Given the description of an element on the screen output the (x, y) to click on. 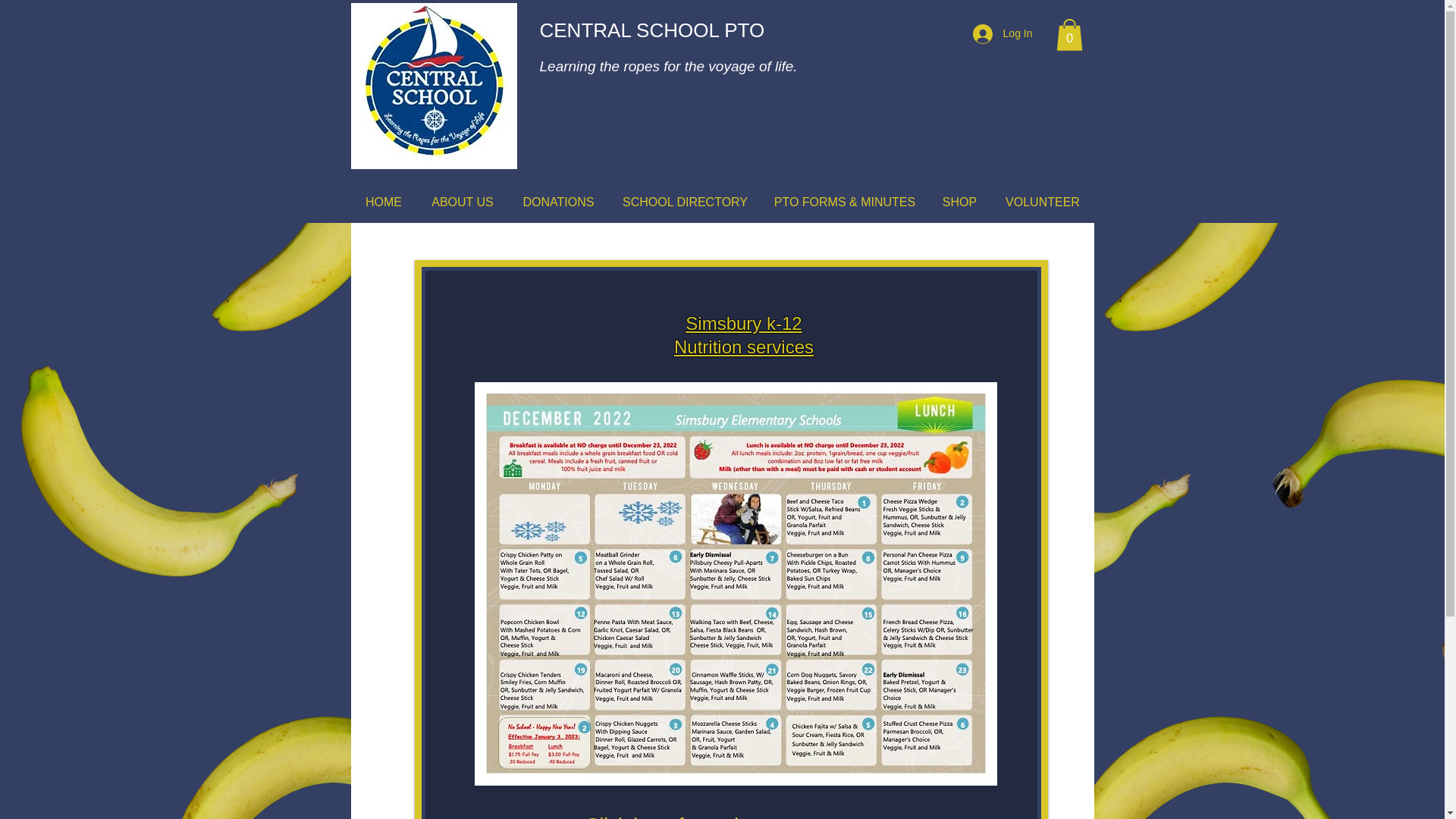
Simsbury k-12 (743, 323)
Nutrition services (743, 345)
SHOP (959, 202)
ABOUT US (462, 202)
VOLUNTEER (1042, 202)
SCHOOL DIRECTORY (684, 202)
HOME (383, 202)
DONATIONS (558, 202)
Log In (1002, 33)
